Given the description of an element on the screen output the (x, y) to click on. 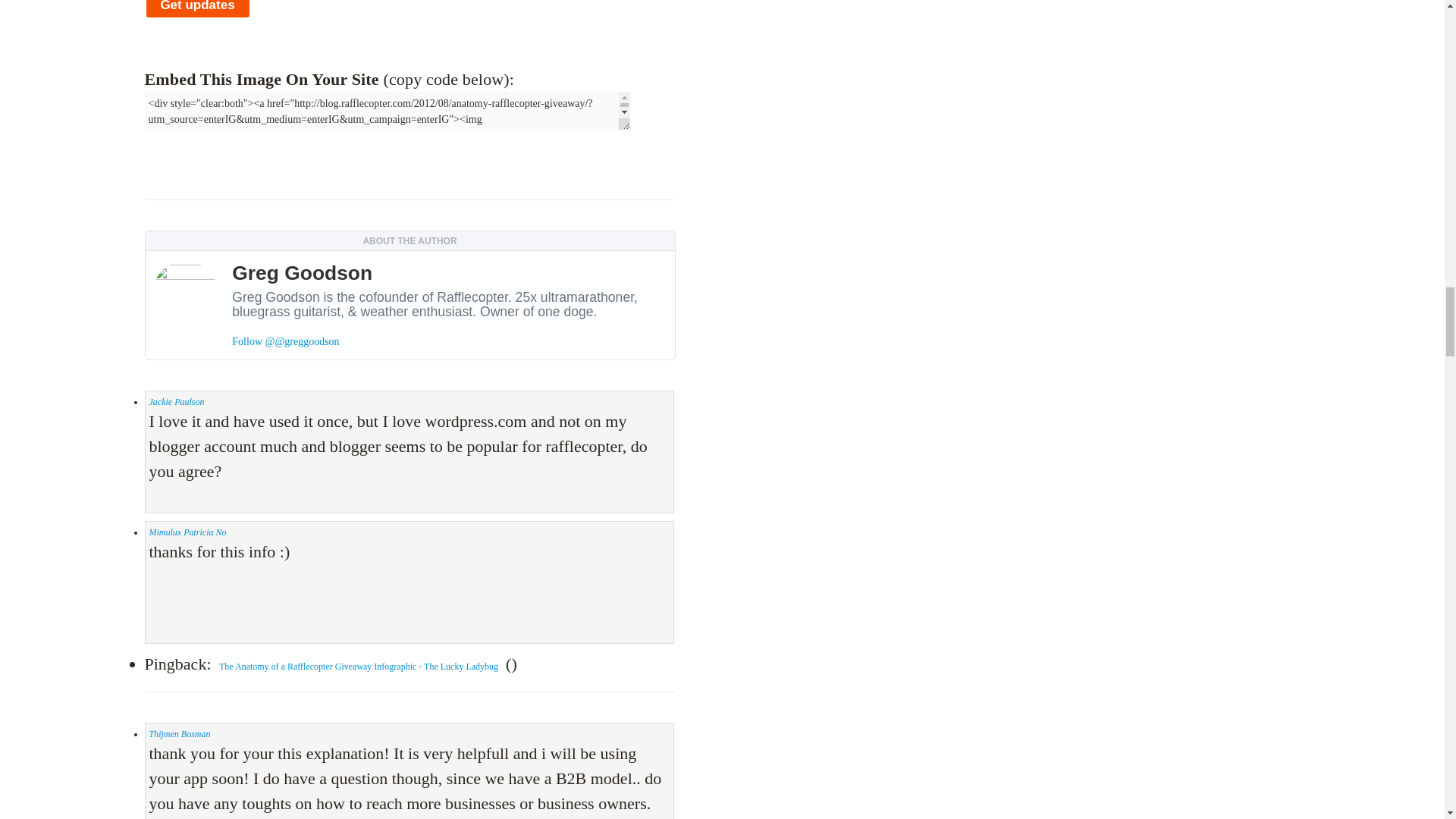
Mimulux Patricia No (186, 532)
Get updates (197, 9)
Jackie Paulson (175, 401)
Get updates (197, 9)
Thijmen Bosman (178, 733)
